Given the description of an element on the screen output the (x, y) to click on. 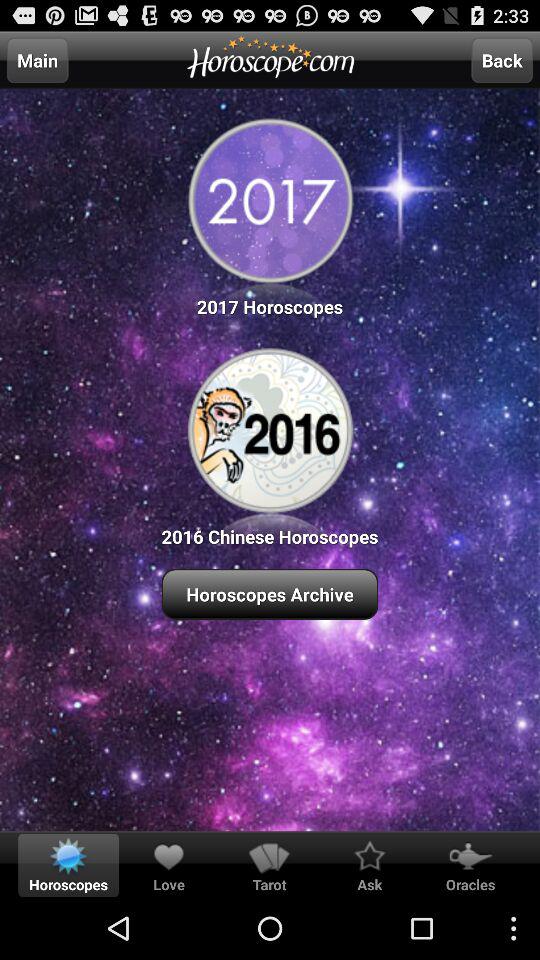
select the 2017 horoscopes icon (269, 214)
